Given the description of an element on the screen output the (x, y) to click on. 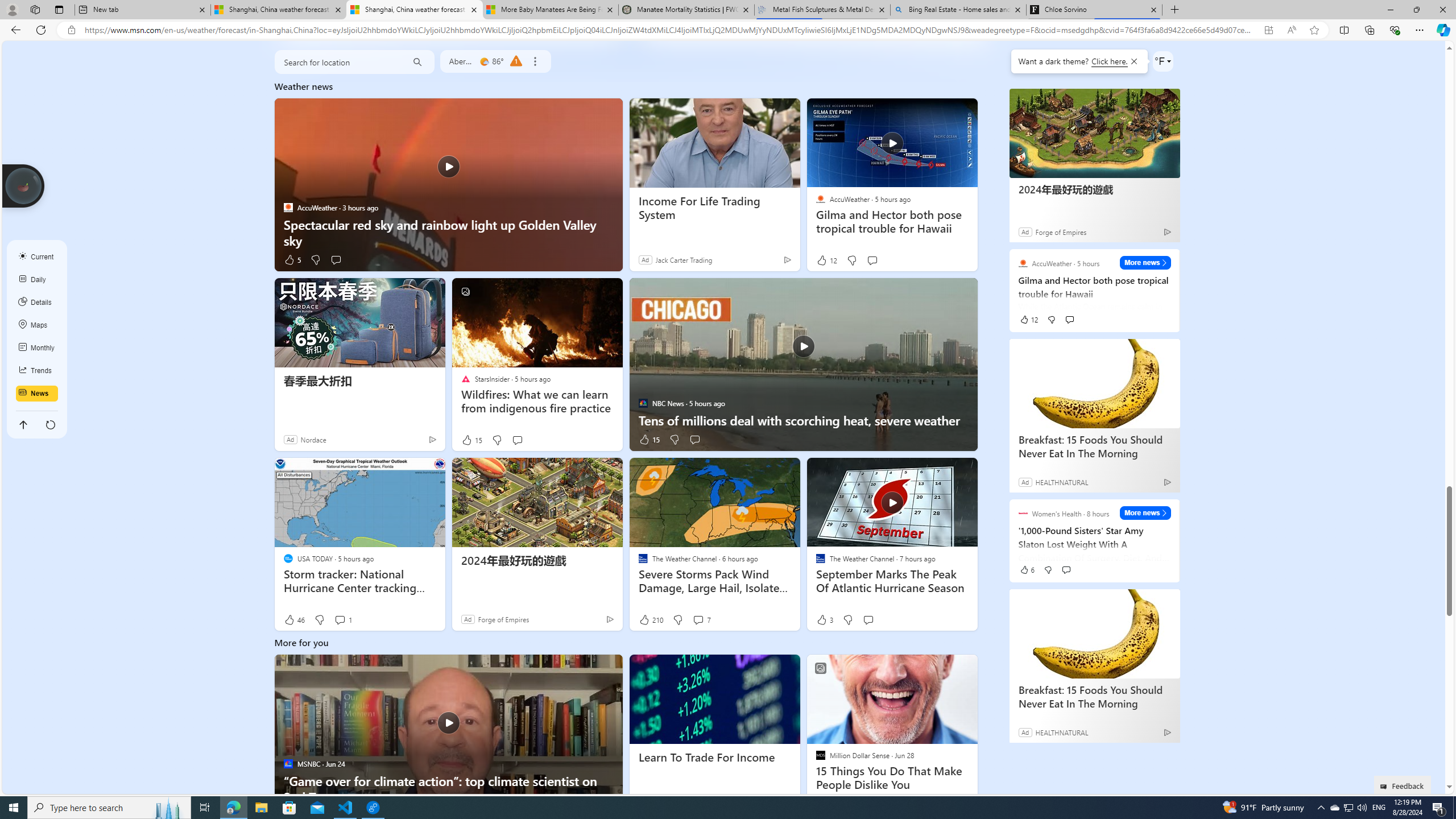
15 Things You Do That Make People Dislike You (891, 777)
News (37, 393)
View comments 7 Comment (697, 619)
App available. Install Microsoft Start Weather (1268, 29)
Aberdeen (461, 61)
View comments 1 Comment (339, 619)
View comments 1 Comment (342, 619)
Spectacular red sky and rainbow light up Golden Valley sky (447, 232)
12 Like (825, 260)
Tens of millions deal with scorching heat, severe weather (802, 364)
Daily (37, 279)
